Given the description of an element on the screen output the (x, y) to click on. 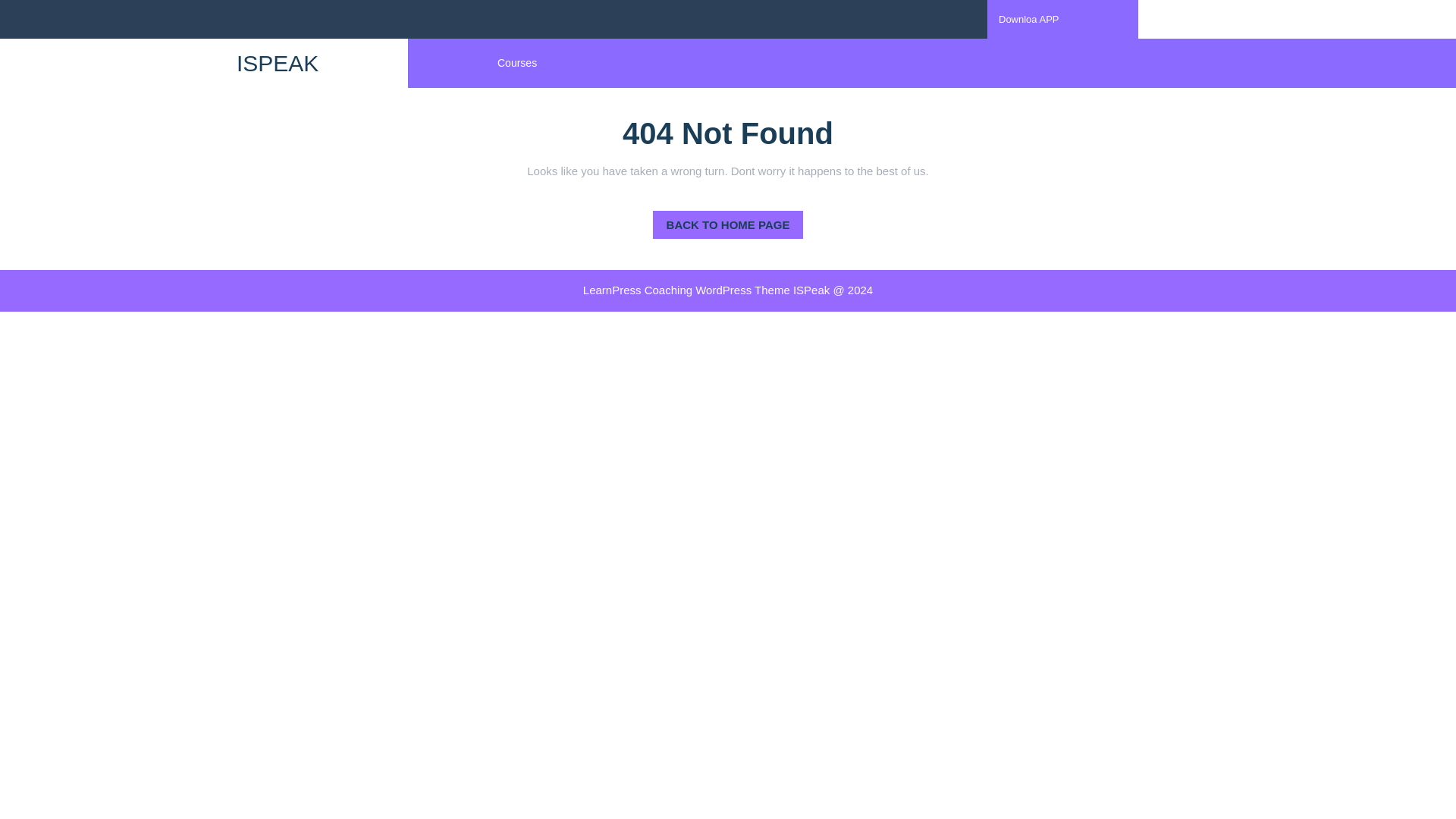
LearnPress Coaching WordPress Theme (688, 289)
Courses (516, 63)
BACK TO HOME PAGE (727, 224)
ISPEAK (276, 63)
Downloa APP (1028, 19)
